Given the description of an element on the screen output the (x, y) to click on. 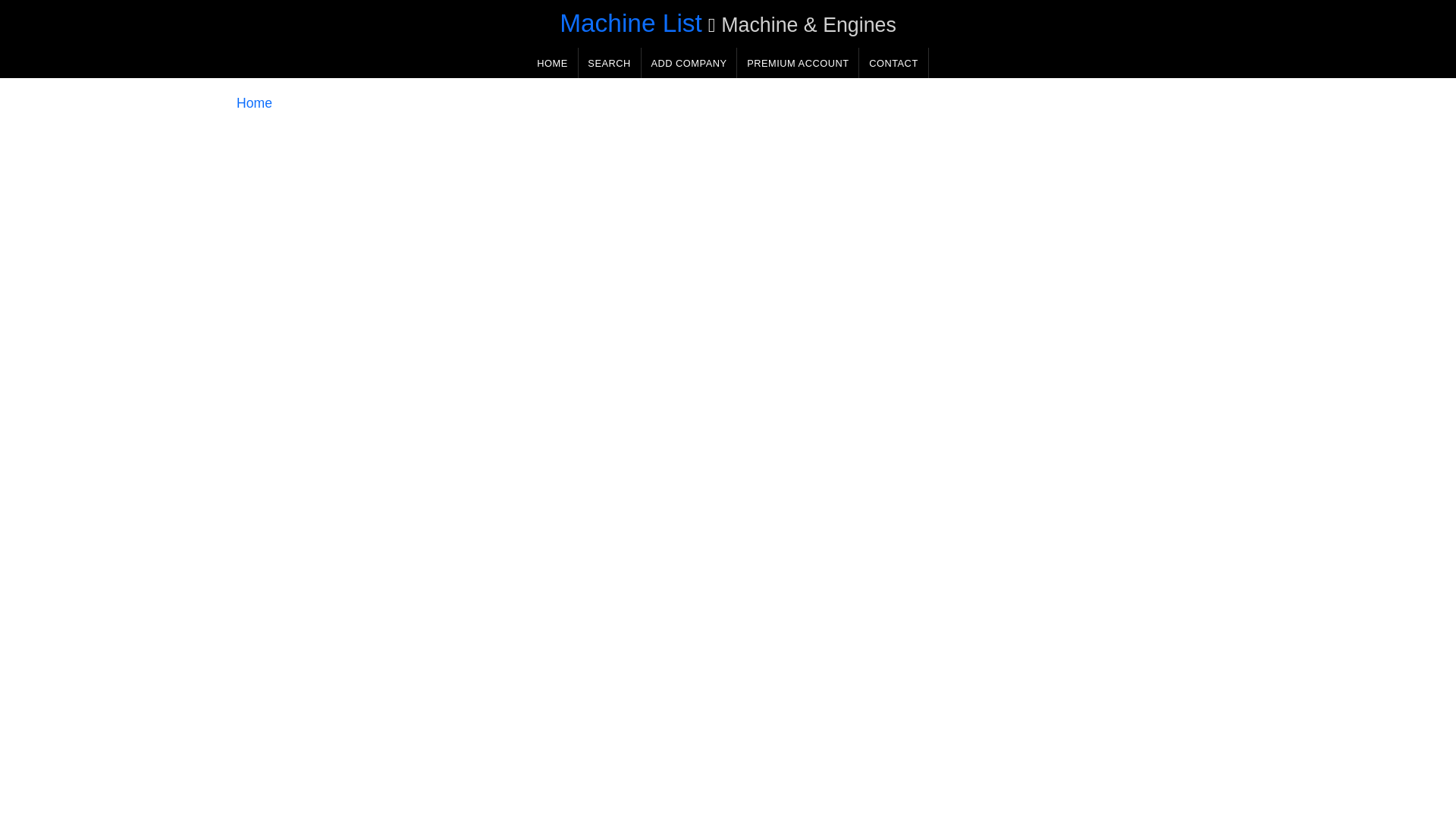
HOME (551, 62)
Home (253, 102)
CONTACT (893, 62)
Machine List (630, 22)
Premium account (797, 62)
ADD COMPANY (689, 62)
PREMIUM ACCOUNT (797, 62)
SEARCH (609, 62)
Add a new company (689, 62)
